Given the description of an element on the screen output the (x, y) to click on. 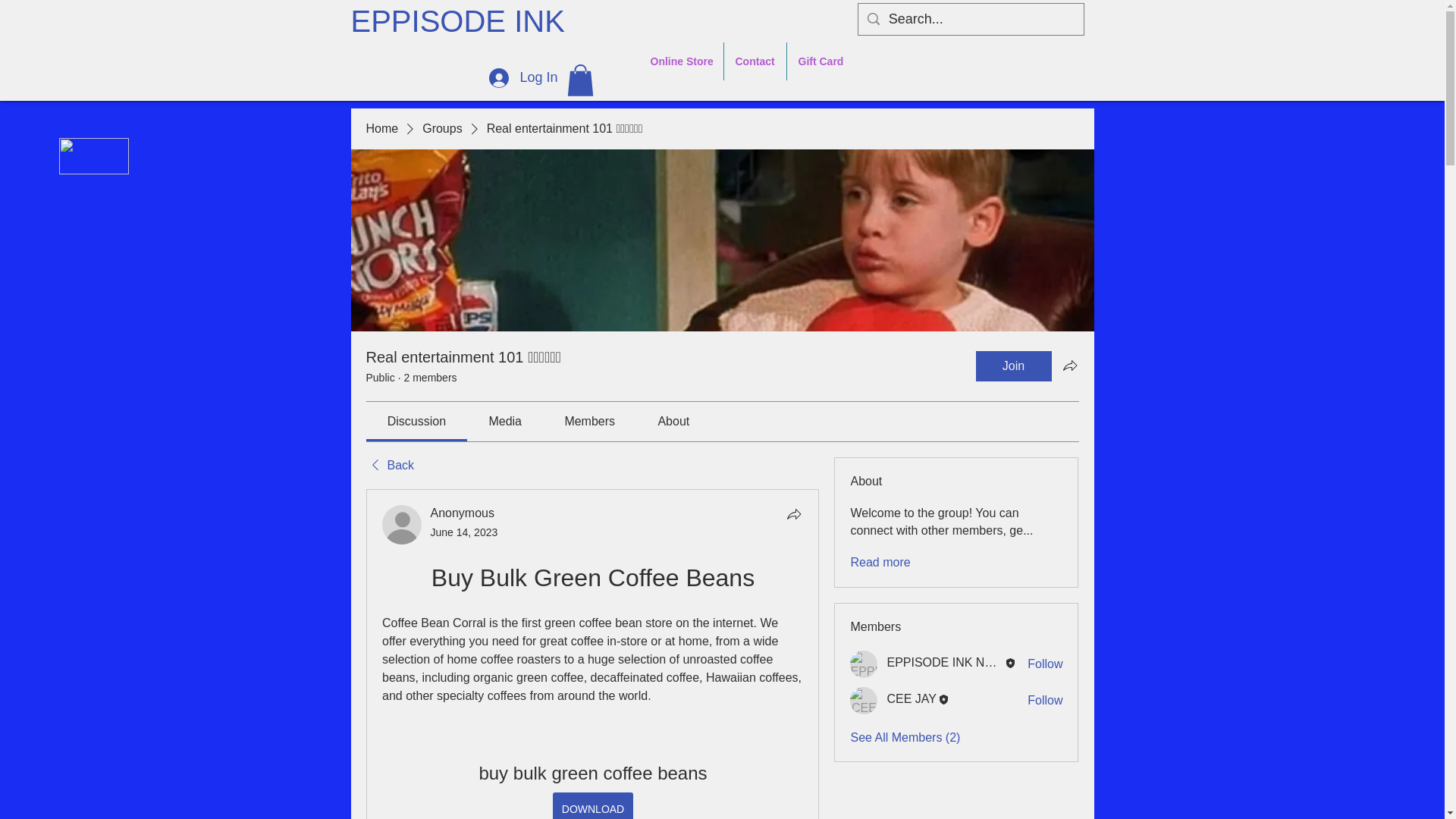
Log In (523, 77)
Online Store (680, 61)
EPPISODE INK (471, 21)
EPPISODE INK NETWORK (863, 664)
CEE JAY (863, 700)
